Given the description of an element on the screen output the (x, y) to click on. 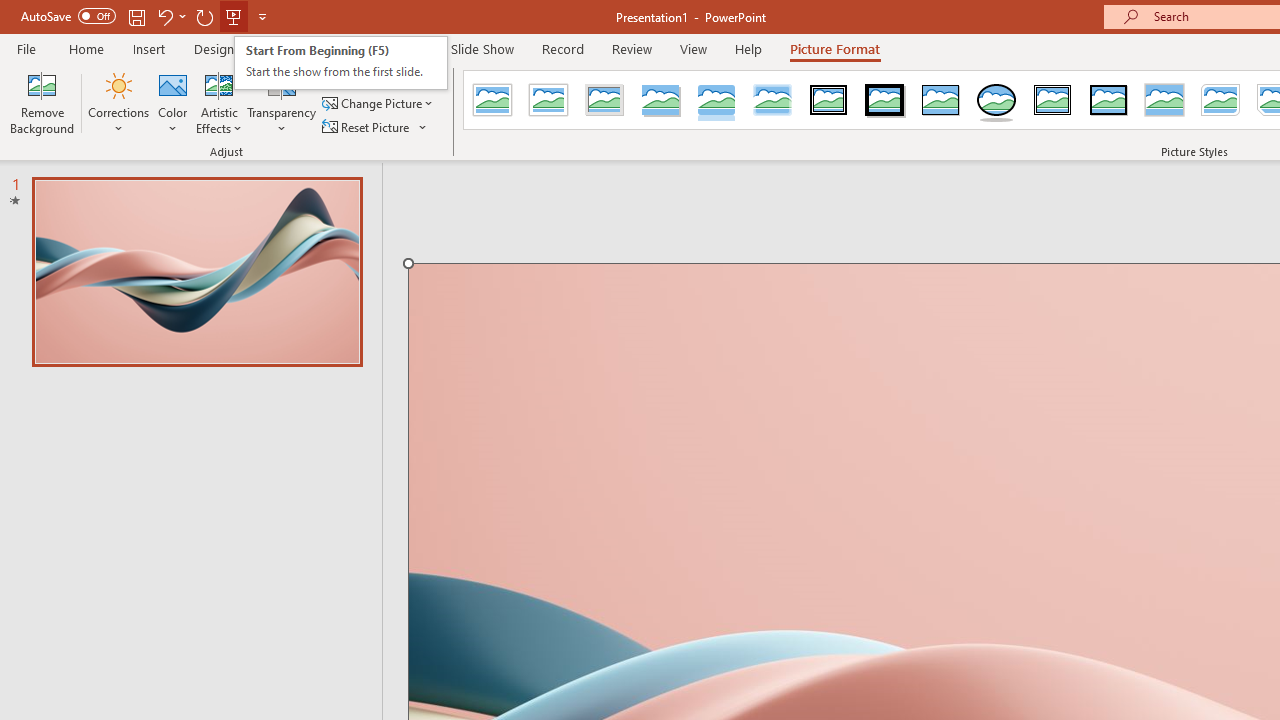
Picture Format (834, 48)
Drop Shadow Rectangle (660, 100)
Metal Frame (605, 100)
Transparency (281, 102)
